Given the description of an element on the screen output the (x, y) to click on. 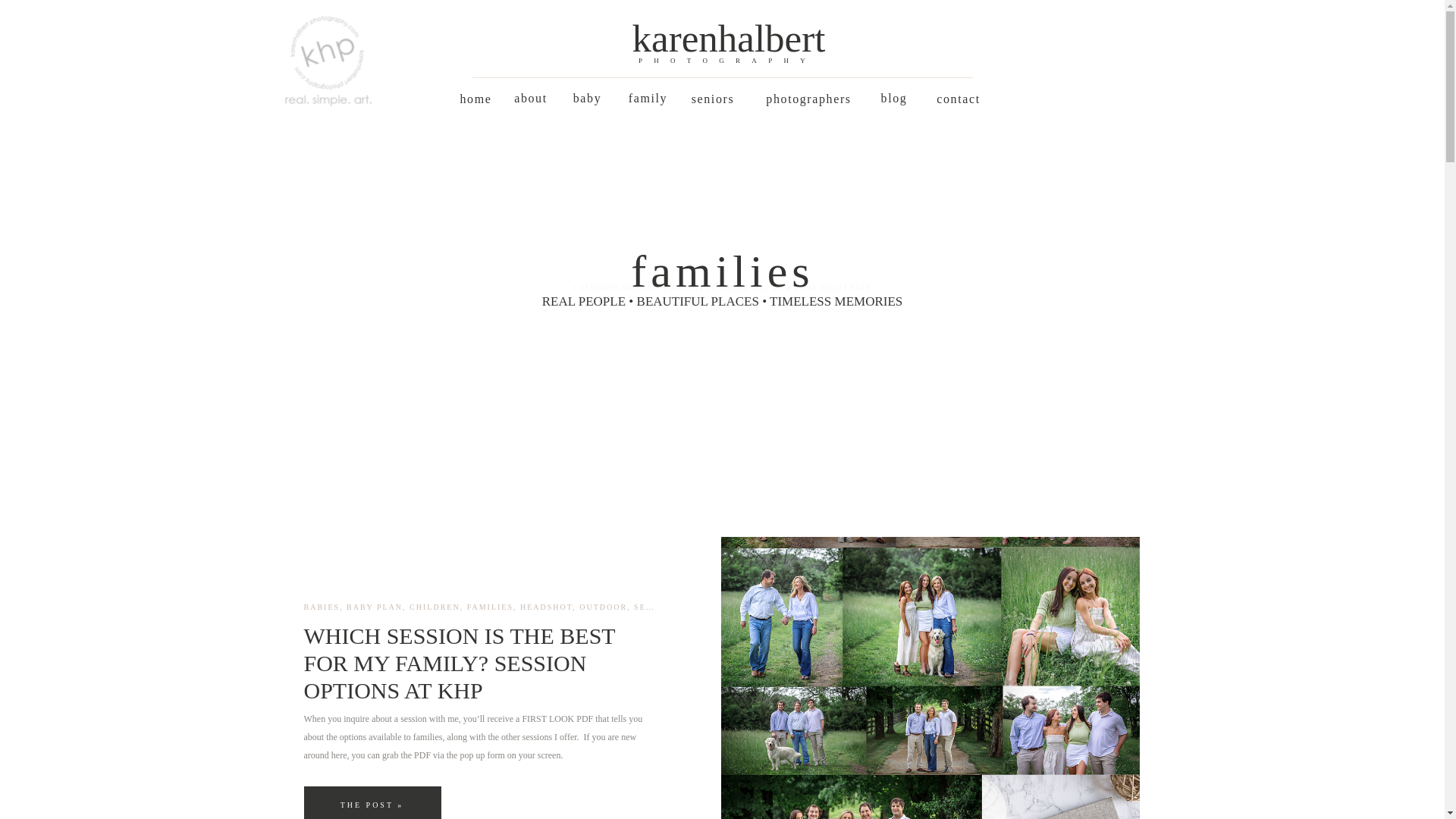
blog (894, 98)
CHILDREN (434, 606)
HEADSHOT (545, 606)
home (475, 98)
about (531, 98)
BABIES (320, 606)
FAMILIES (490, 606)
contact (957, 98)
OUTDOOR (603, 606)
photographers (809, 98)
seniors (712, 98)
BABY PLAN (374, 606)
